Given the description of an element on the screen output the (x, y) to click on. 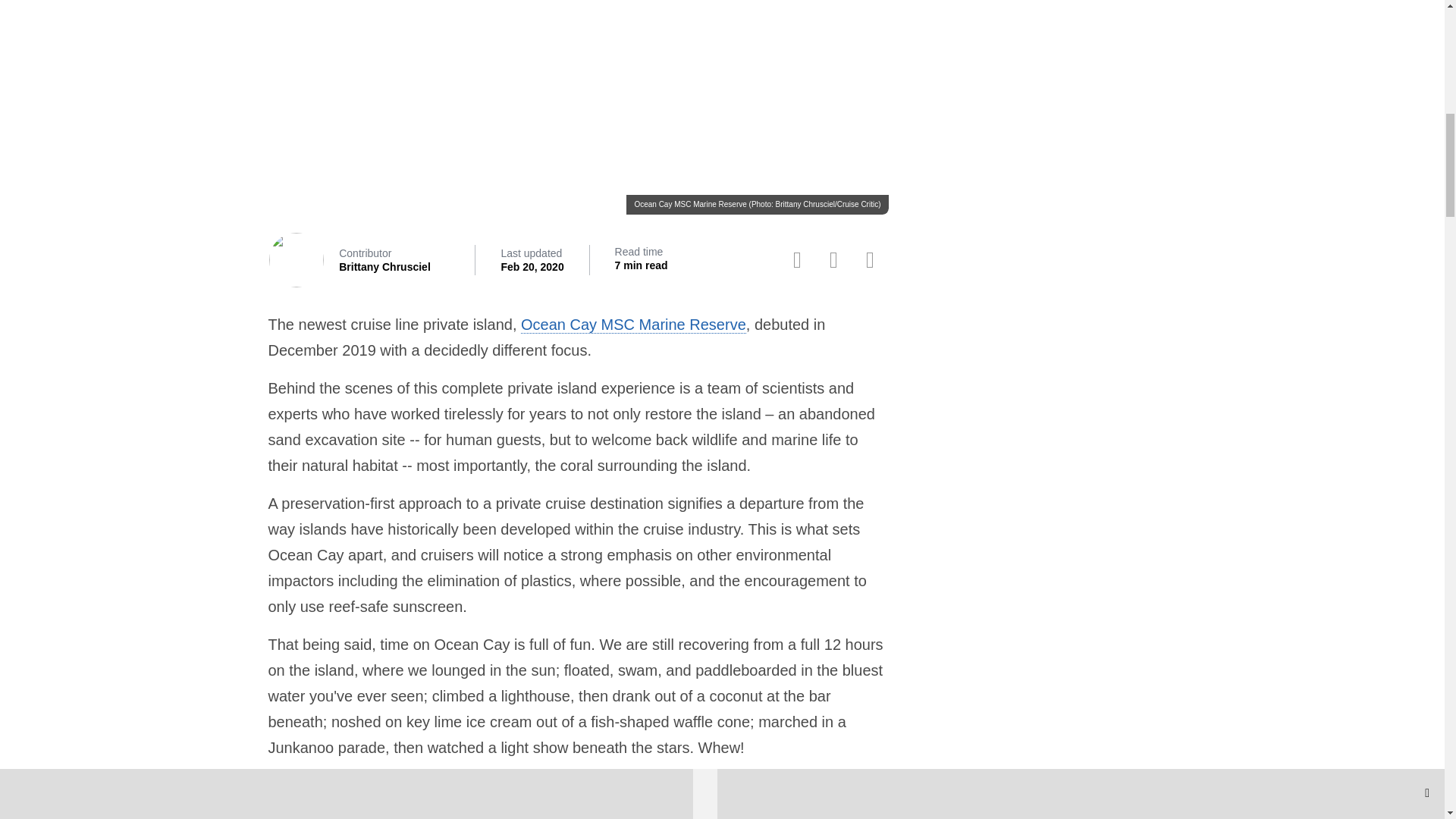
Ocean Cay MSC Marine Reserve (633, 324)
